Given the description of an element on the screen output the (x, y) to click on. 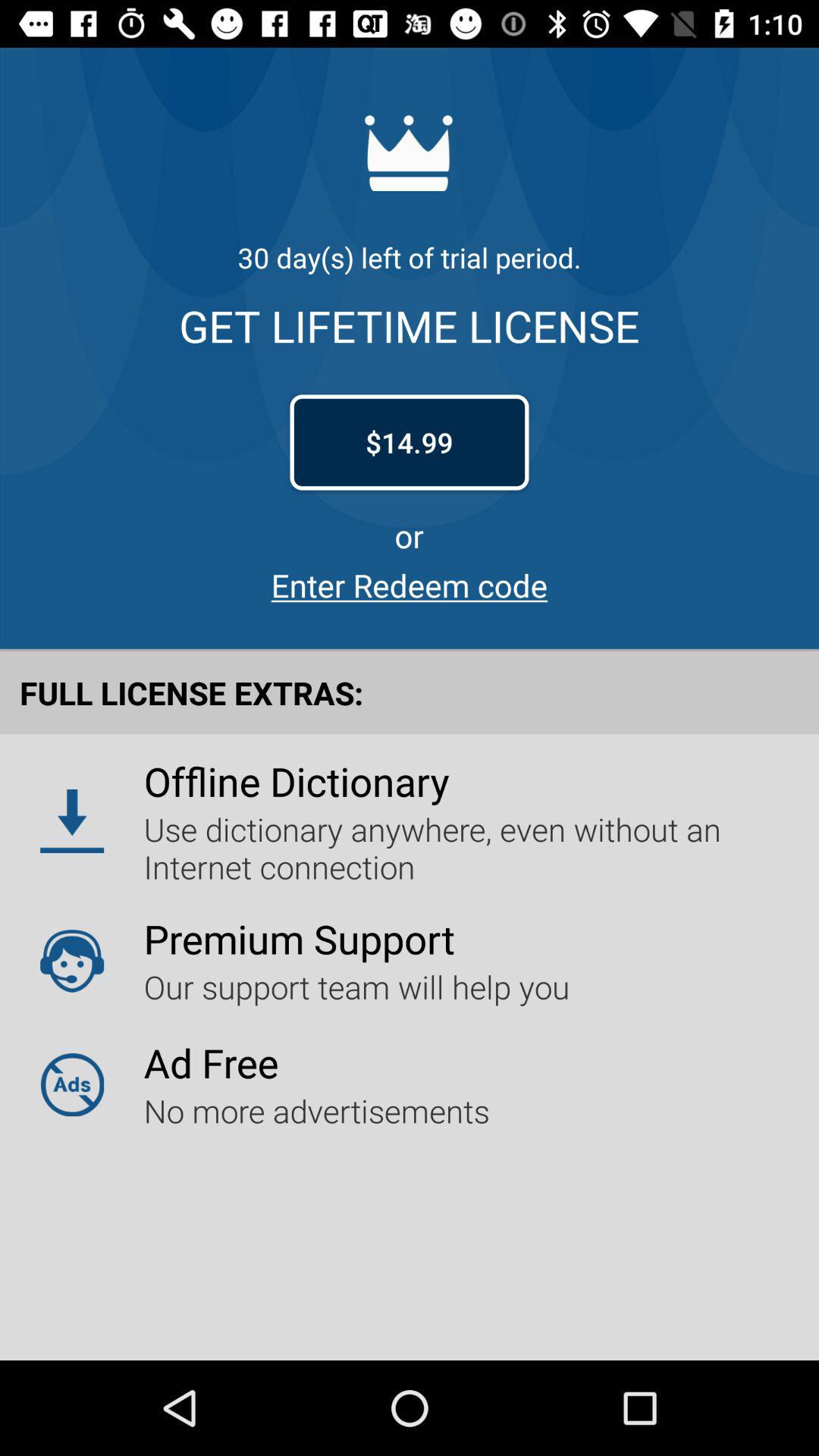
launch item above or (409, 442)
